Given the description of an element on the screen output the (x, y) to click on. 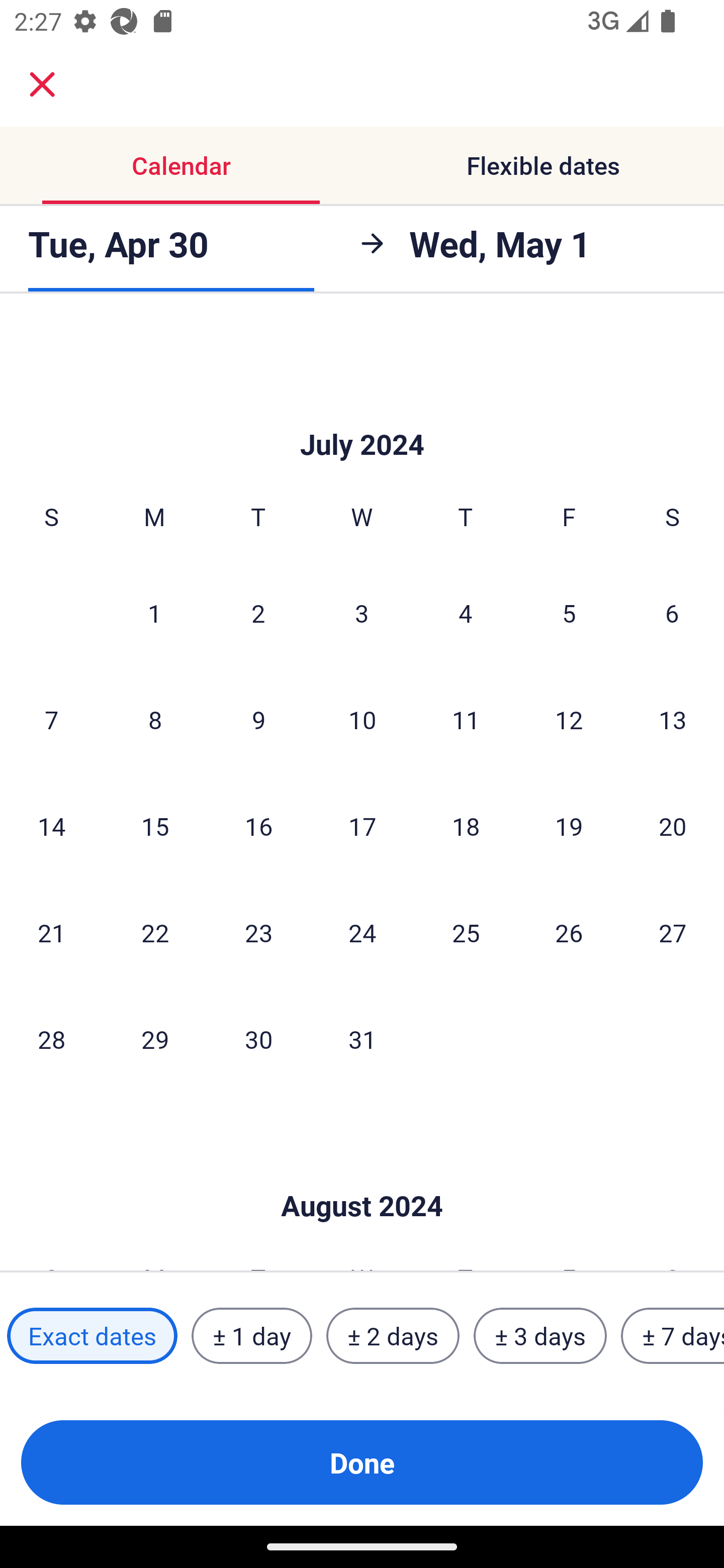
close. (42, 84)
Flexible dates (542, 164)
Skip to Done (362, 414)
1 Monday, July 1, 2024 (154, 612)
2 Tuesday, July 2, 2024 (257, 612)
3 Wednesday, July 3, 2024 (361, 612)
4 Thursday, July 4, 2024 (465, 612)
5 Friday, July 5, 2024 (568, 612)
6 Saturday, July 6, 2024 (672, 612)
7 Sunday, July 7, 2024 (51, 719)
8 Monday, July 8, 2024 (155, 719)
9 Tuesday, July 9, 2024 (258, 719)
10 Wednesday, July 10, 2024 (362, 719)
11 Thursday, July 11, 2024 (465, 719)
12 Friday, July 12, 2024 (569, 719)
13 Saturday, July 13, 2024 (672, 719)
14 Sunday, July 14, 2024 (51, 826)
15 Monday, July 15, 2024 (155, 826)
16 Tuesday, July 16, 2024 (258, 826)
17 Wednesday, July 17, 2024 (362, 826)
18 Thursday, July 18, 2024 (465, 826)
19 Friday, July 19, 2024 (569, 826)
20 Saturday, July 20, 2024 (672, 826)
21 Sunday, July 21, 2024 (51, 932)
22 Monday, July 22, 2024 (155, 932)
23 Tuesday, July 23, 2024 (258, 932)
24 Wednesday, July 24, 2024 (362, 932)
25 Thursday, July 25, 2024 (465, 932)
26 Friday, July 26, 2024 (569, 932)
27 Saturday, July 27, 2024 (672, 932)
28 Sunday, July 28, 2024 (51, 1039)
29 Monday, July 29, 2024 (155, 1039)
30 Tuesday, July 30, 2024 (258, 1039)
31 Wednesday, July 31, 2024 (362, 1039)
Skip to Done (362, 1175)
Exact dates (92, 1335)
± 1 day (251, 1335)
± 2 days (392, 1335)
± 3 days (539, 1335)
± 7 days (672, 1335)
Done (361, 1462)
